Given the description of an element on the screen output the (x, y) to click on. 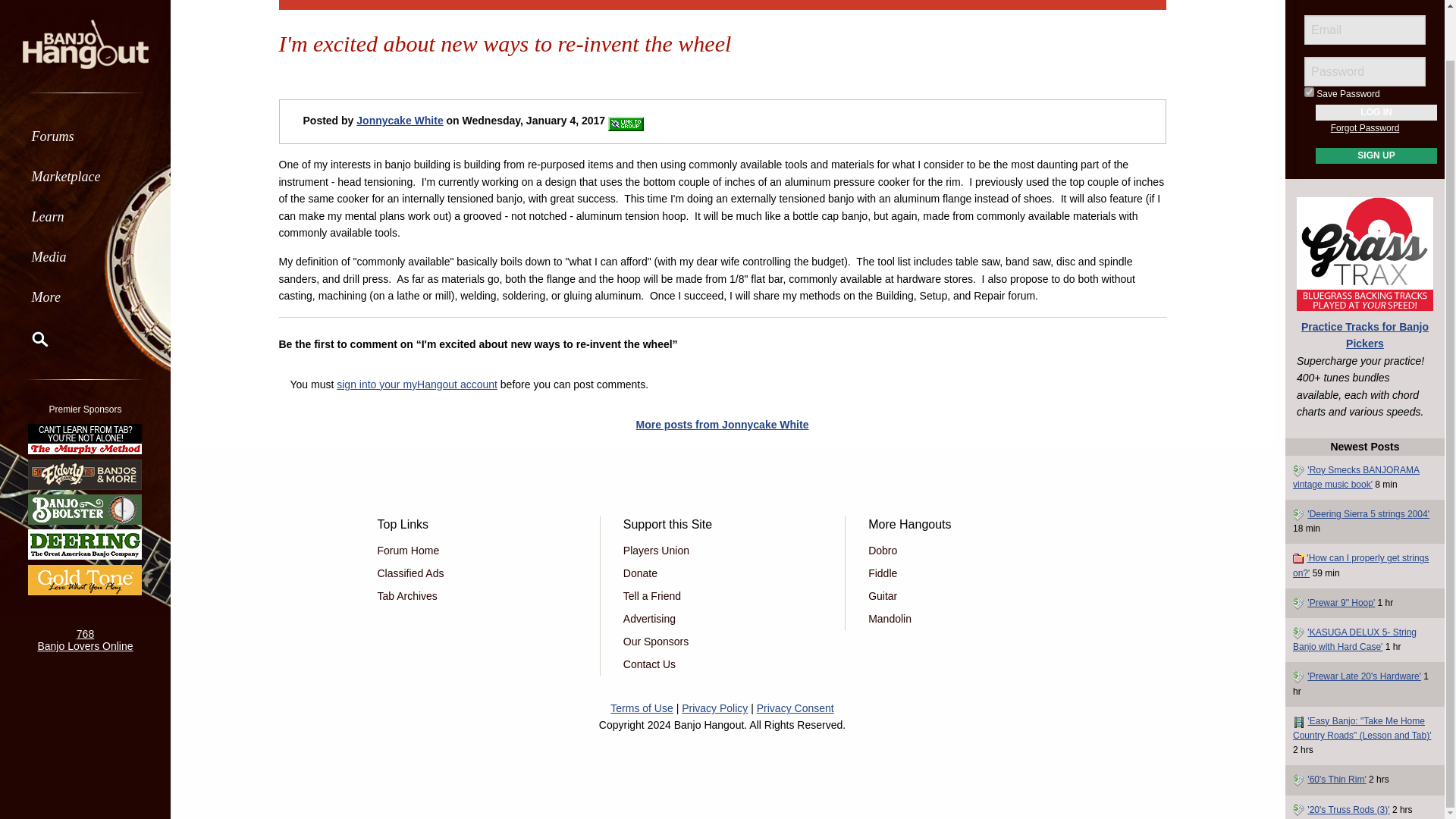
Log In (1376, 58)
Banjo Bolster Tone Enhancer (84, 455)
Deering Banjos (84, 490)
true (1309, 38)
Forums (85, 82)
Link This Content to a Group (625, 120)
Link This Item to Your Groups (625, 124)
The Murphy Method (84, 384)
Gold Tone (84, 525)
Sign Up (1376, 101)
Elderly Instruments - Since 1972 (84, 419)
Marketplace (85, 122)
